Given the description of an element on the screen output the (x, y) to click on. 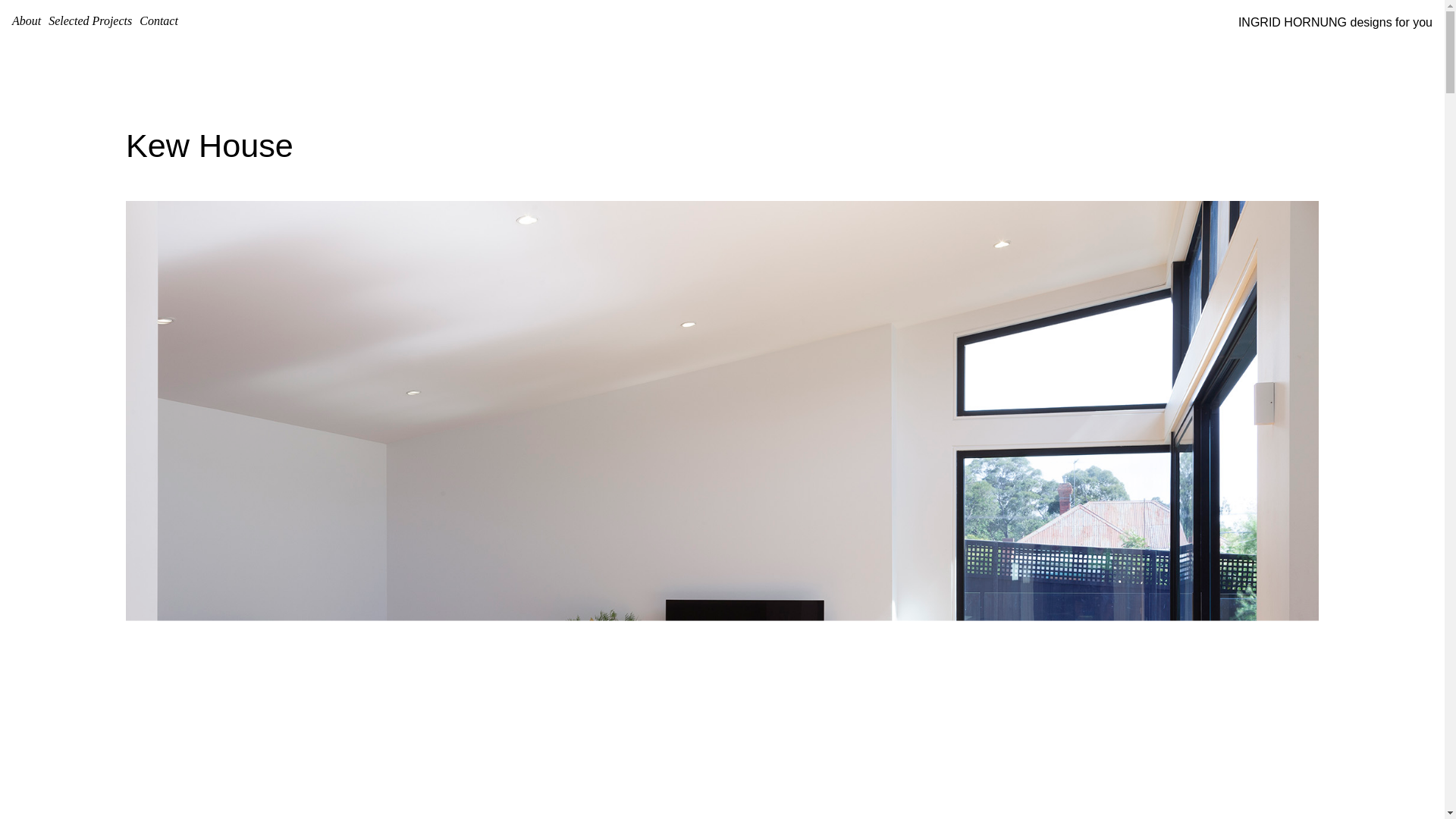
Contact Element type: text (158, 21)
Selected Projects Element type: text (89, 21)
INGRID HORNUNG designs for you Element type: text (1335, 21)
About Element type: text (26, 21)
